Given the description of an element on the screen output the (x, y) to click on. 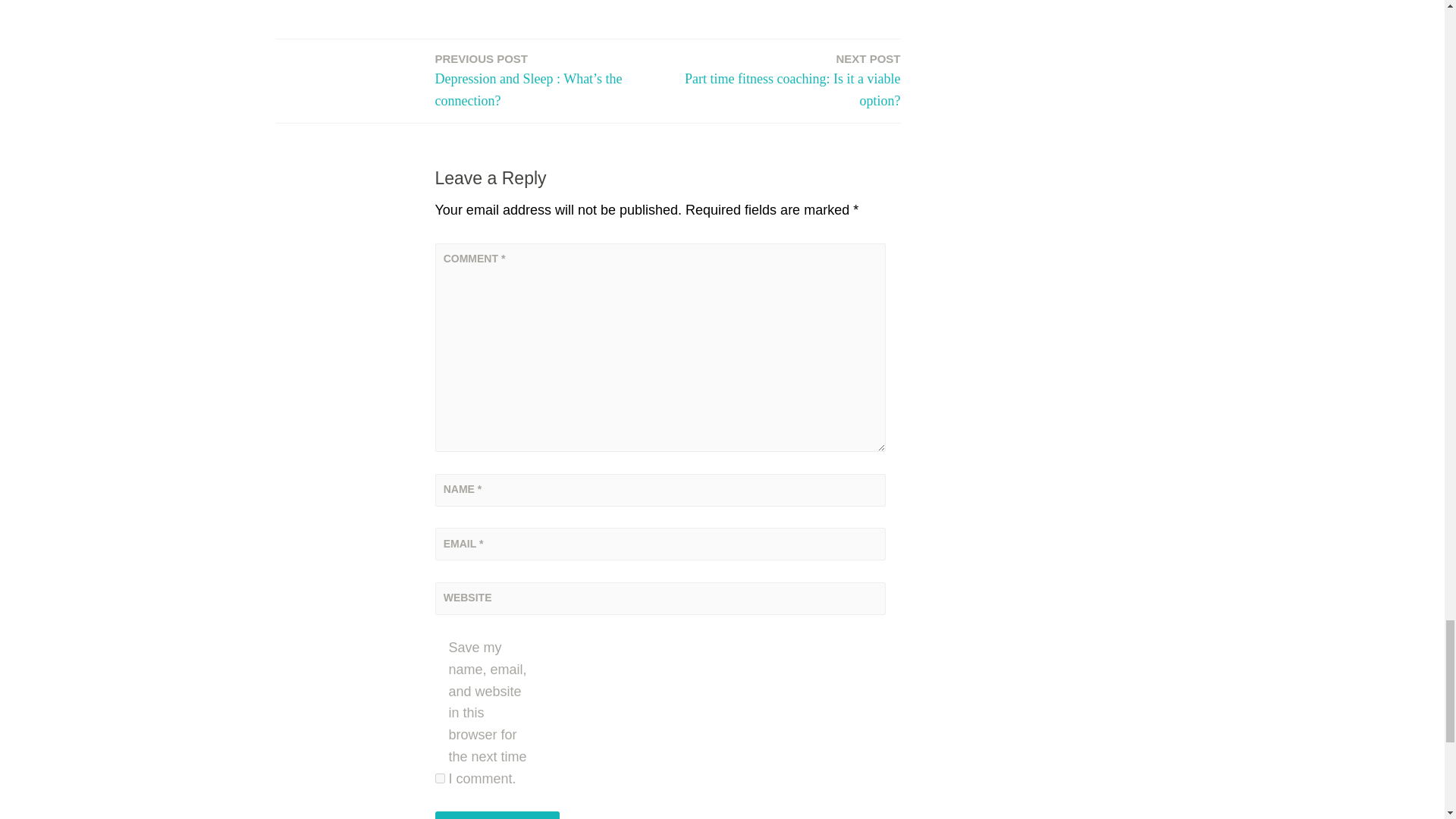
Post Comment (497, 815)
yes (440, 777)
Post Comment (789, 80)
